Given the description of an element on the screen output the (x, y) to click on. 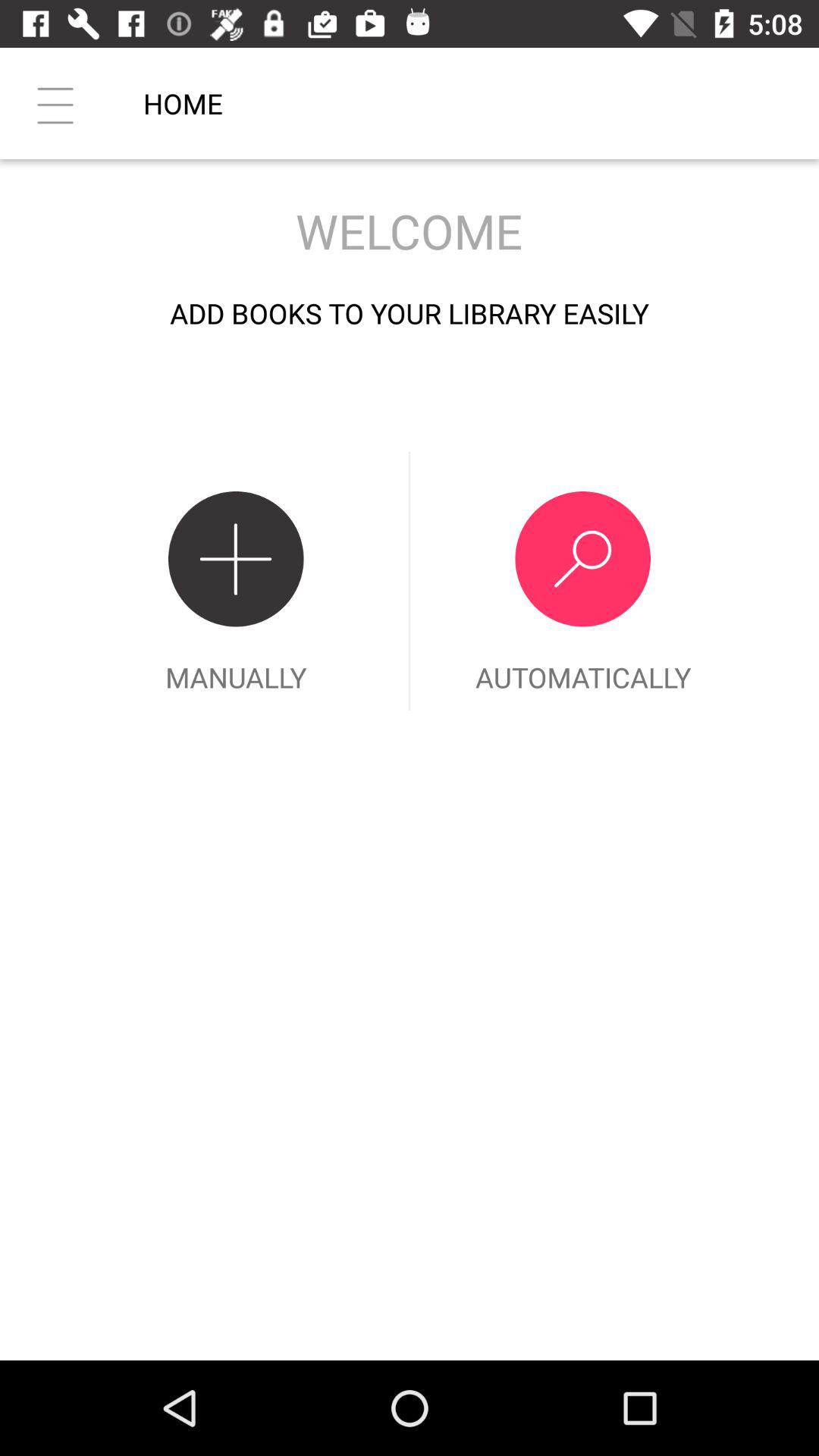
turn off icon to the left of the home icon (55, 103)
